Given the description of an element on the screen output the (x, y) to click on. 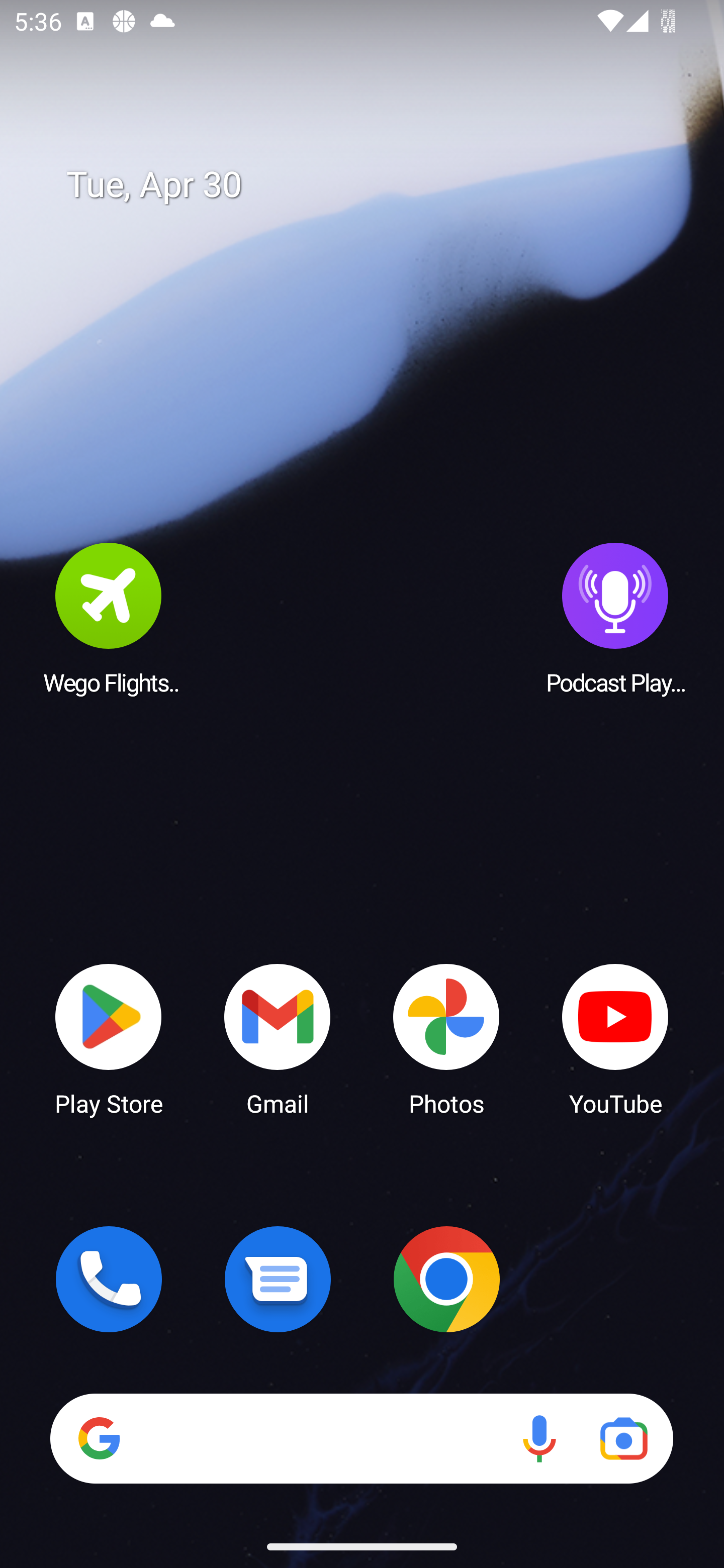
Tue, Apr 30 (375, 184)
Wego Flights & Hotels (108, 617)
Podcast Player (615, 617)
Play Store (108, 1038)
Gmail (277, 1038)
Photos (445, 1038)
YouTube (615, 1038)
Phone (108, 1279)
Messages (277, 1279)
Chrome (446, 1279)
Voice search (539, 1438)
Google Lens (623, 1438)
